Given the description of an element on the screen output the (x, y) to click on. 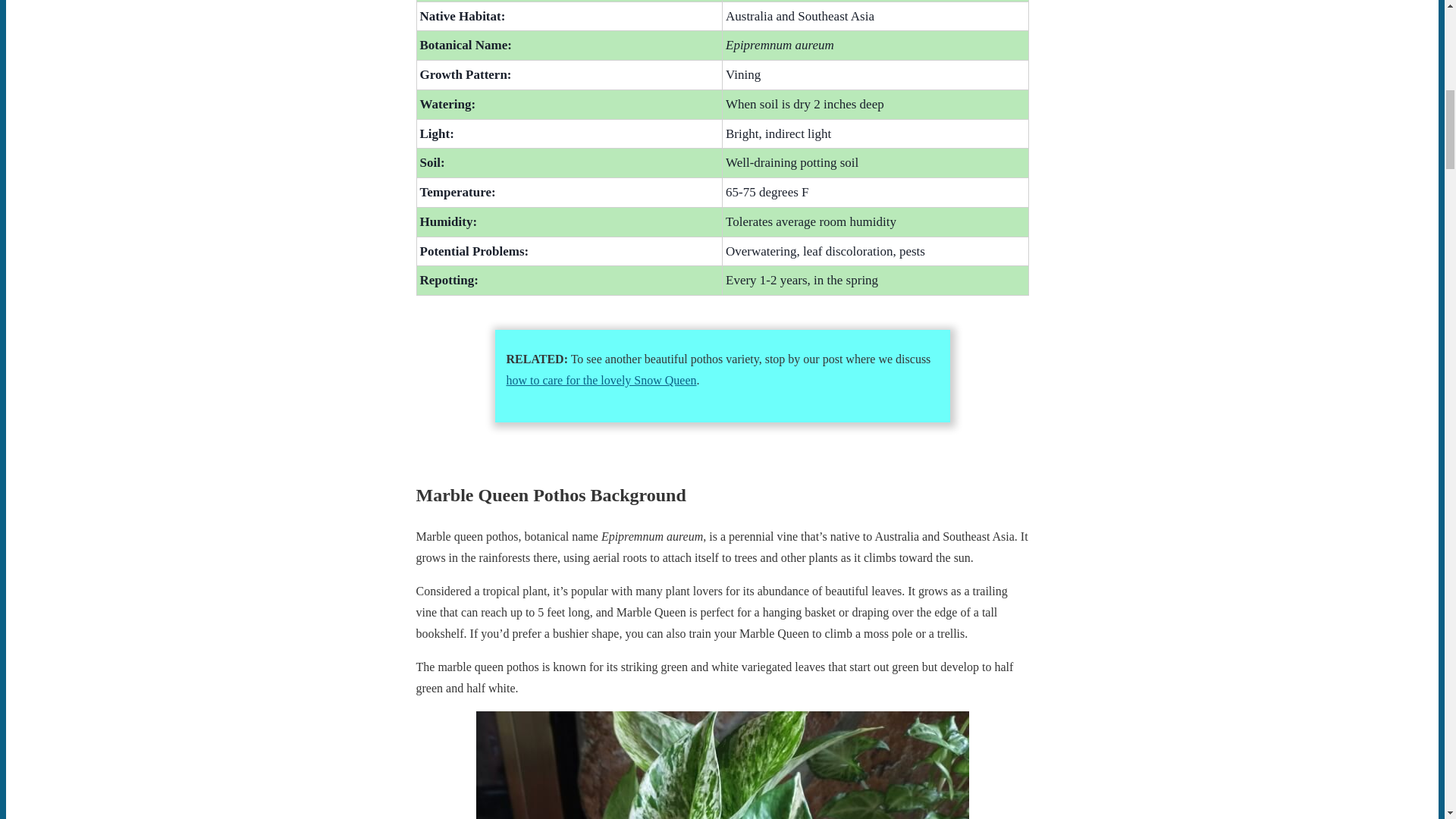
how to care for the lovely Snow Queen (601, 379)
Mable Queen plant (722, 765)
